Given the description of an element on the screen output the (x, y) to click on. 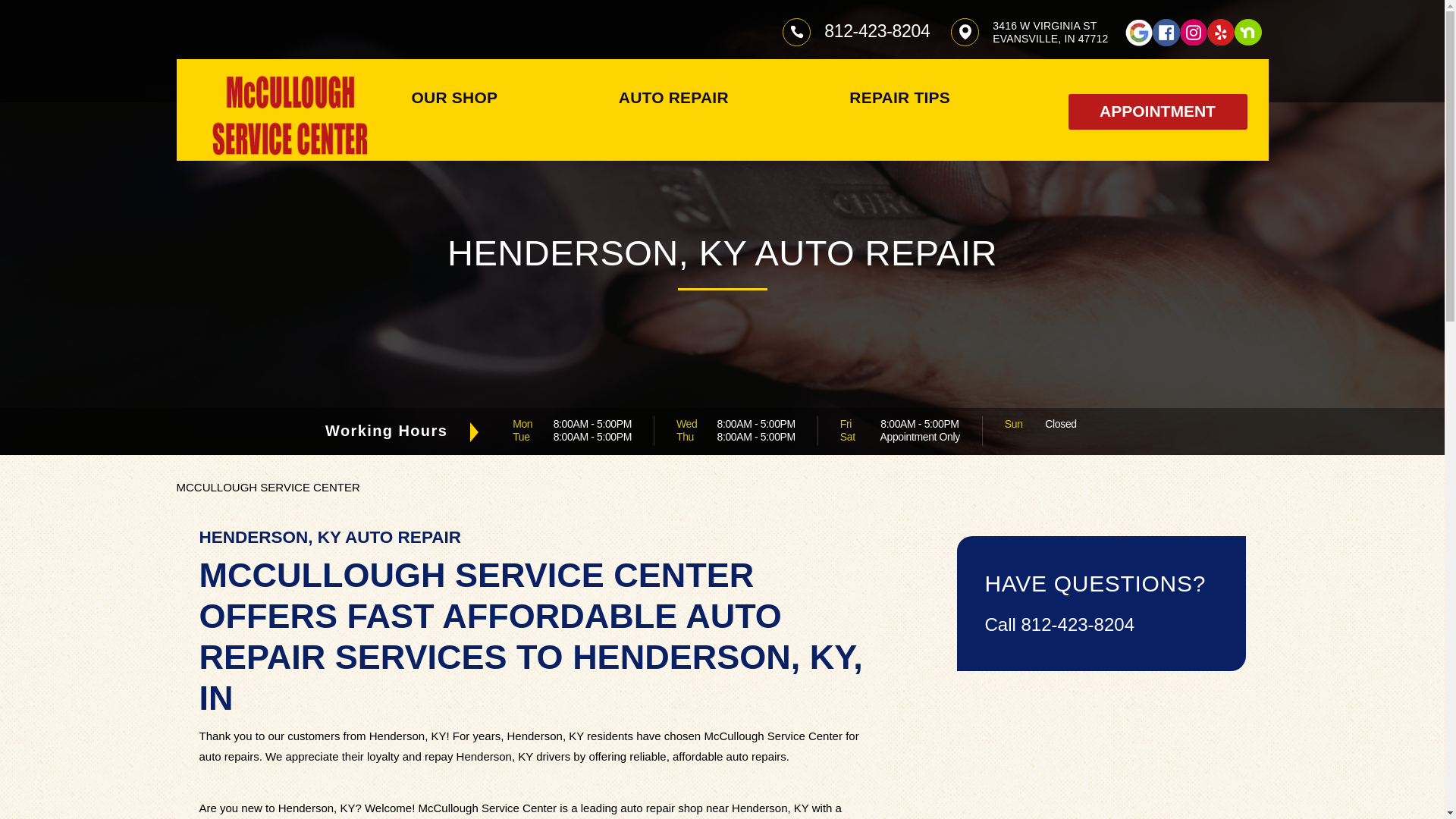
APPOINTMENT (1156, 111)
812-423-8204 (877, 30)
OUR SHOP (453, 97)
AUTO REPAIR (673, 97)
REPAIR TIPS (899, 97)
